Given the description of an element on the screen output the (x, y) to click on. 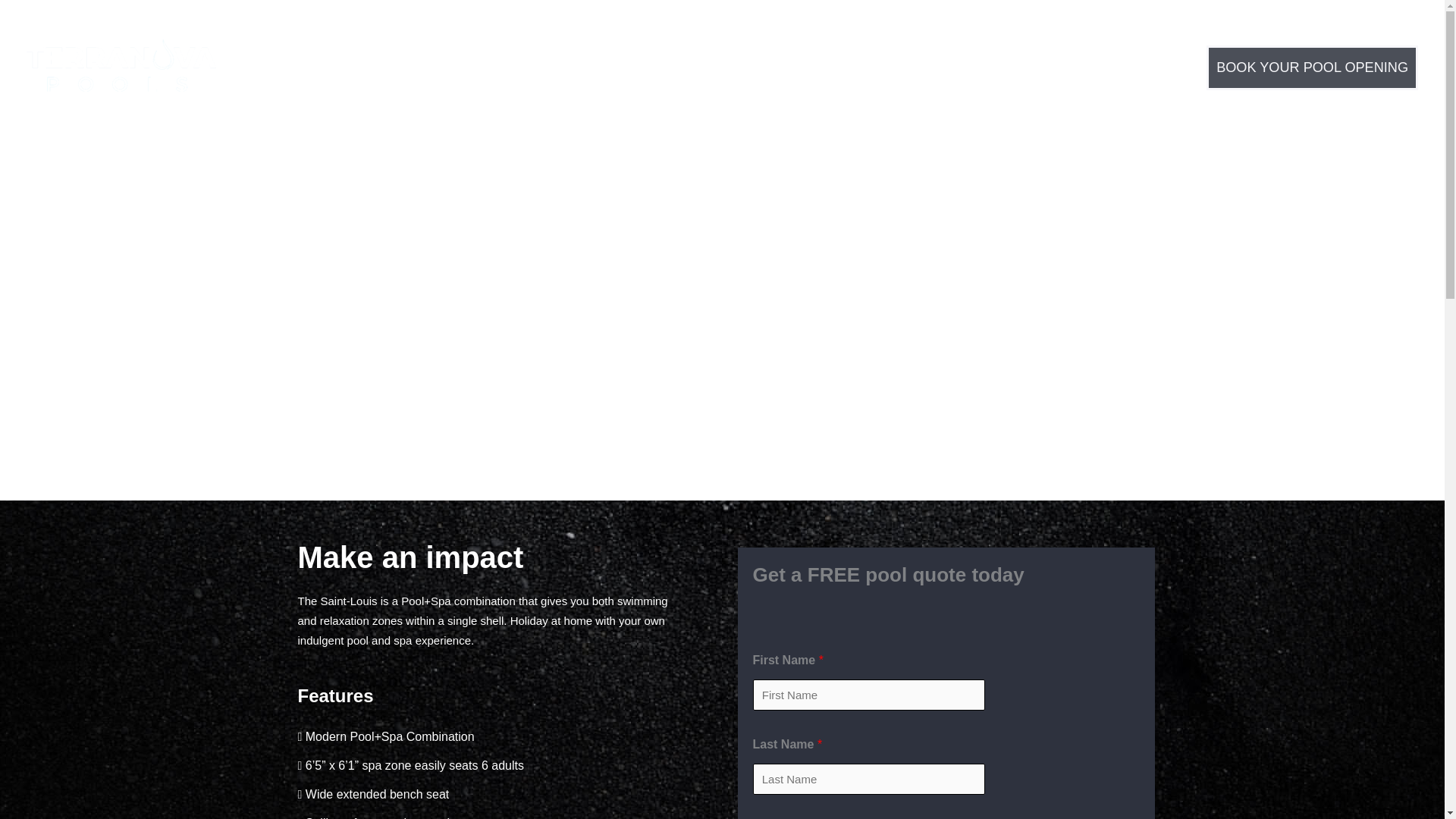
BOOK YOUR POOL OPENING (1312, 67)
OPTIONS (555, 67)
VINYL LINER REPLACEMENT (943, 67)
POOLS (339, 67)
INFO (700, 67)
CONTACT (1101, 67)
SERVICE (783, 67)
FAQS (632, 67)
LANDSCAPING (446, 67)
